Given the description of an element on the screen output the (x, y) to click on. 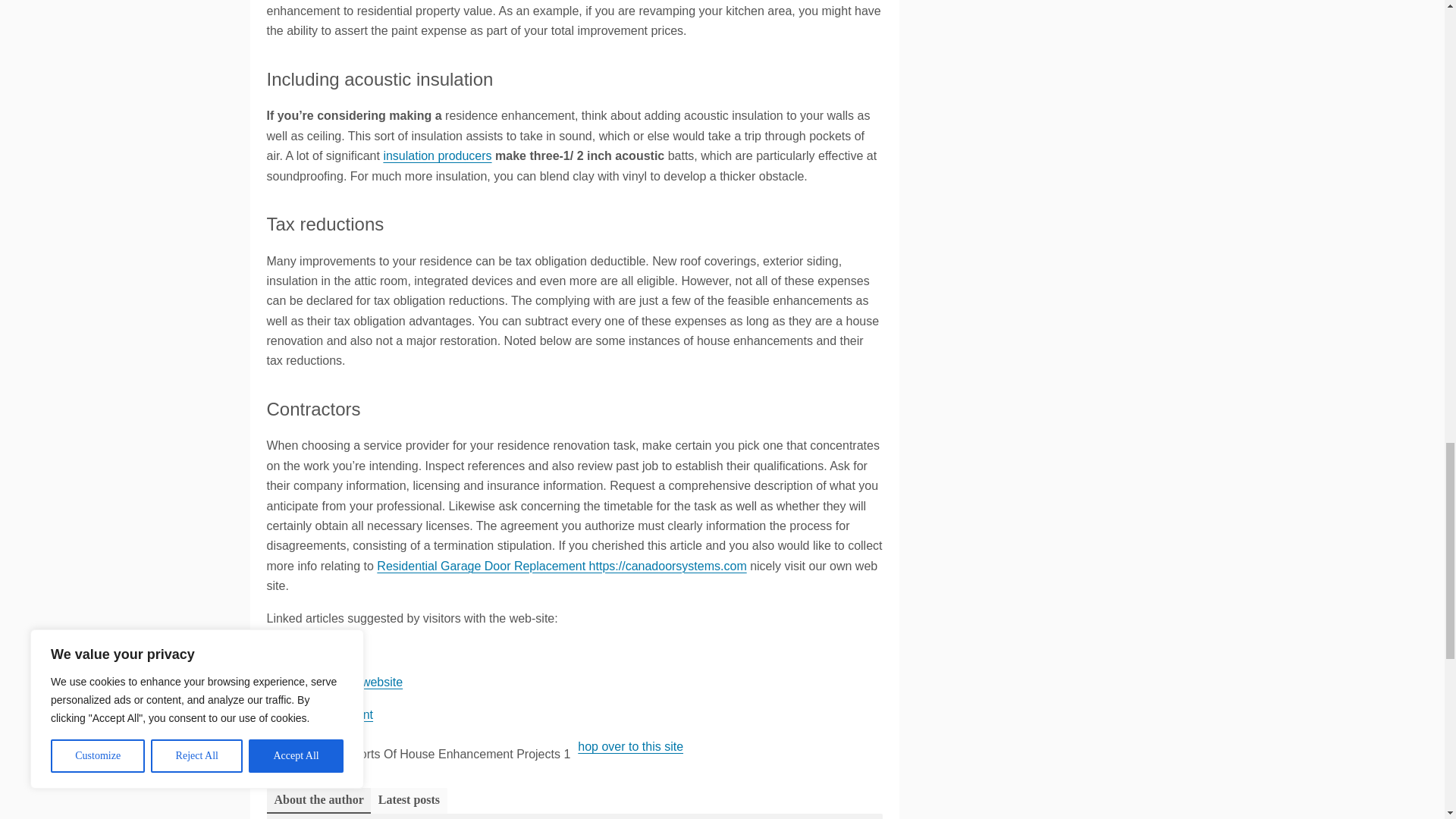
visit the following website (334, 681)
hop over to this site (630, 746)
Knowing it (294, 649)
he has a good point (320, 714)
insulation producers (437, 155)
